Given the description of an element on the screen output the (x, y) to click on. 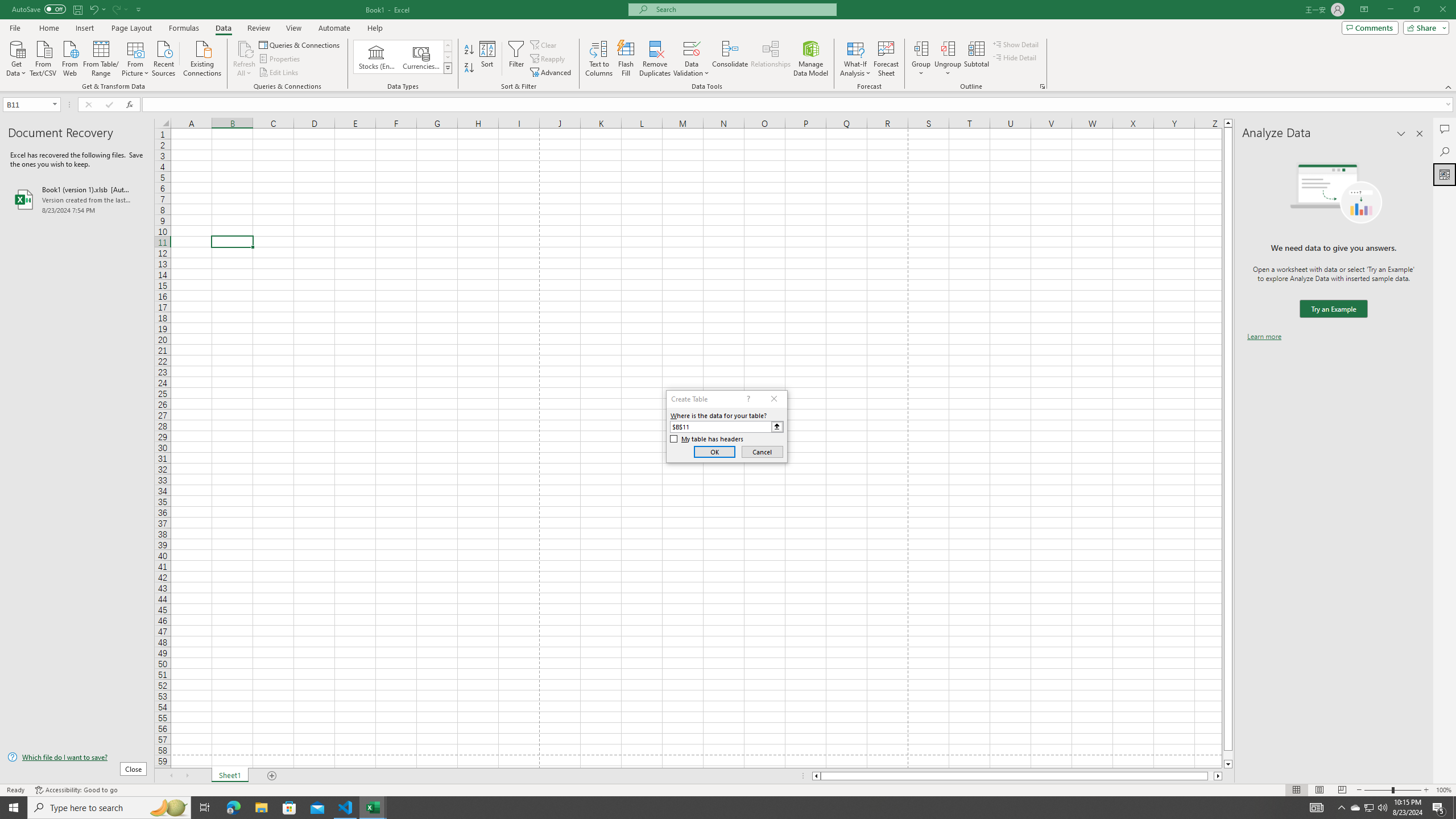
Review (258, 28)
Help (374, 28)
Properties (280, 58)
Name Box (27, 104)
Class: MsoCommandBar (728, 45)
More Options (947, 68)
Sort Z to A (469, 67)
System (6, 6)
Manage Data Model (810, 58)
Get Data (16, 57)
View (293, 28)
Queries & Connections (300, 44)
Edit Links (279, 72)
Customize Quick Access Toolbar (139, 9)
Forecast Sheet (885, 58)
